Given the description of an element on the screen output the (x, y) to click on. 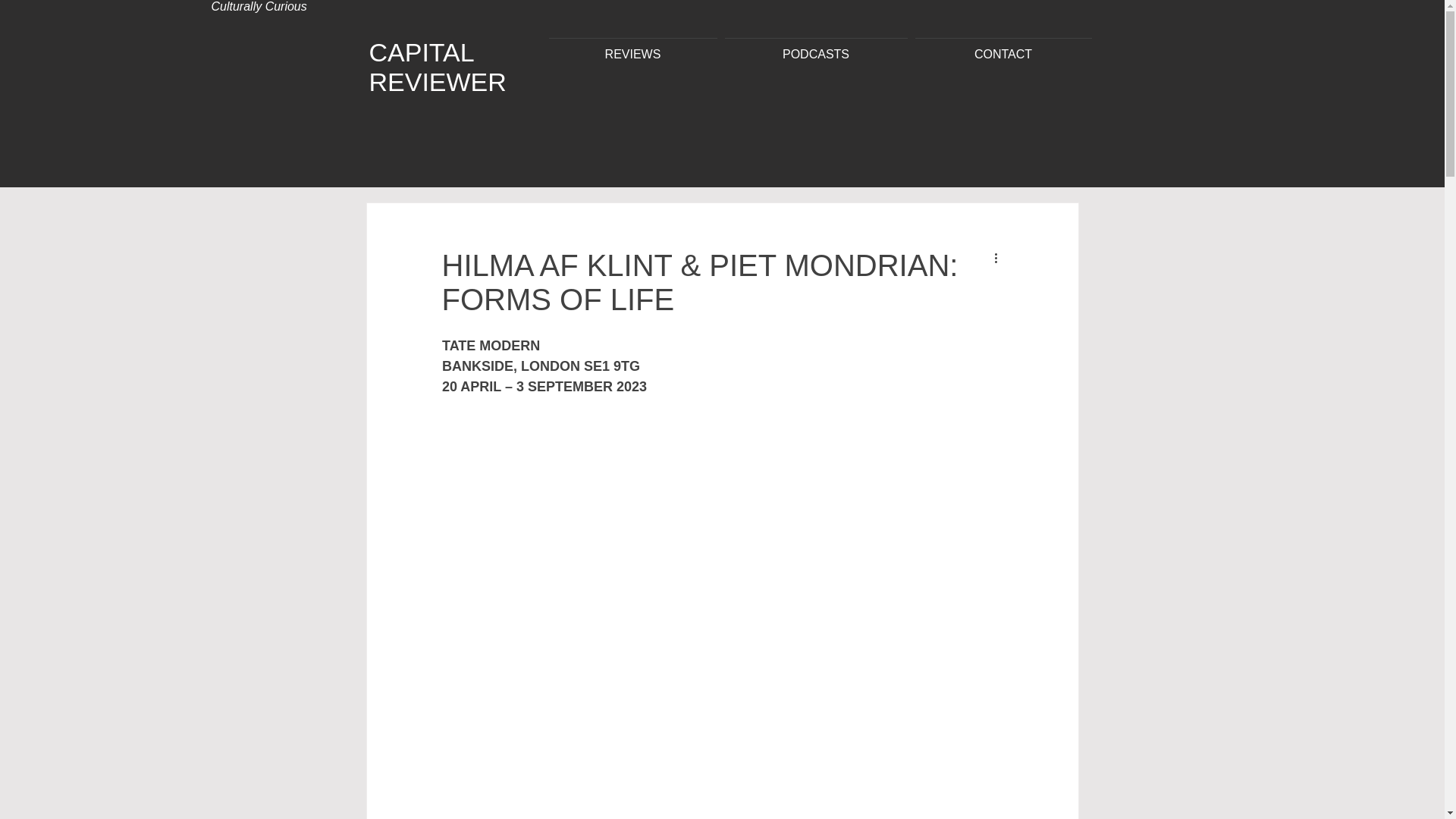
PODCASTS (815, 46)
CAPITAL REVIEWER (436, 66)
CONTACT (1003, 46)
REVIEWS (632, 46)
